Given the description of an element on the screen output the (x, y) to click on. 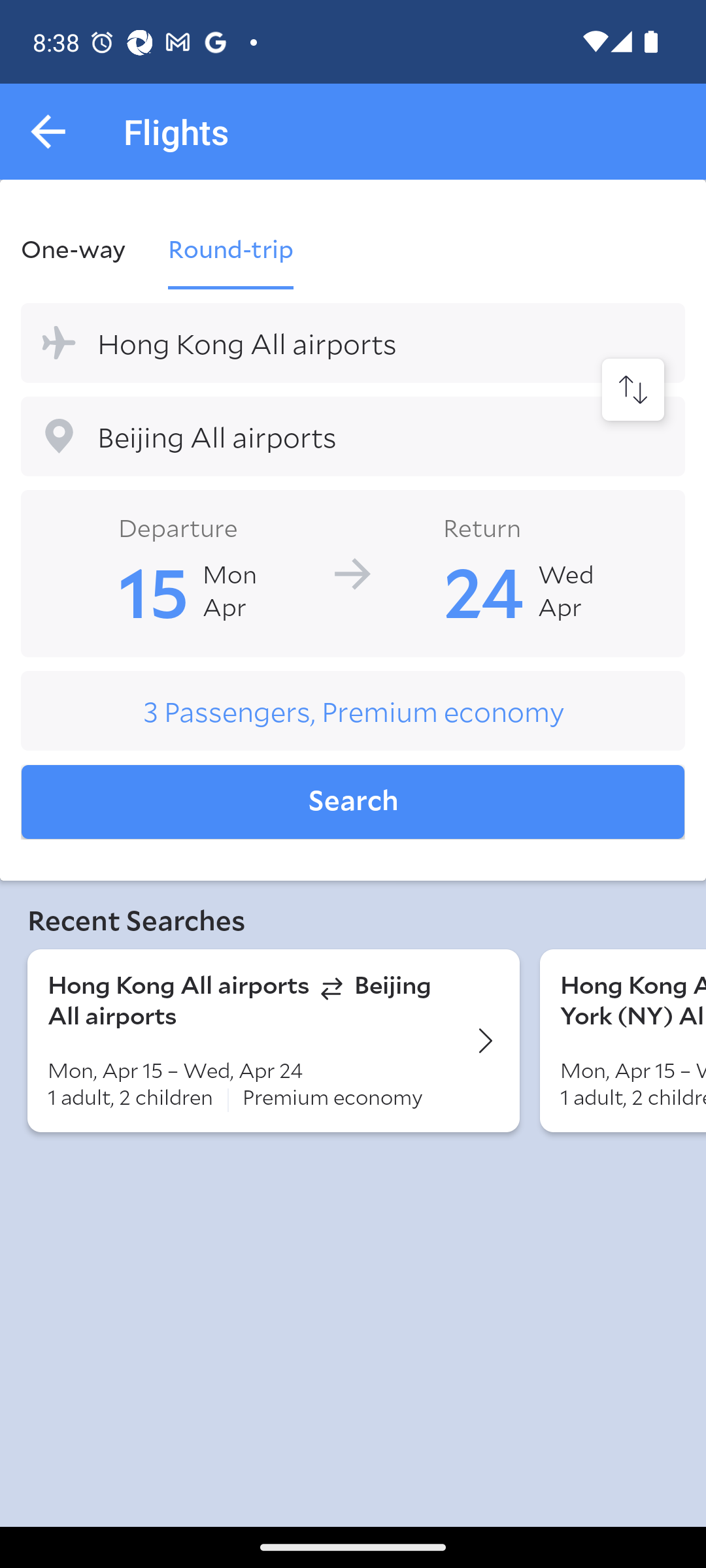
One-way (83, 248)
Hong Kong All airports (352, 342)
Beijing All airports (352, 436)
Departure 15 Mon Apr Return 24 Wed Apr (352, 572)
3 Passengers, Premium economy (352, 711)
Search  Search (352, 801)
